Given the description of an element on the screen output the (x, y) to click on. 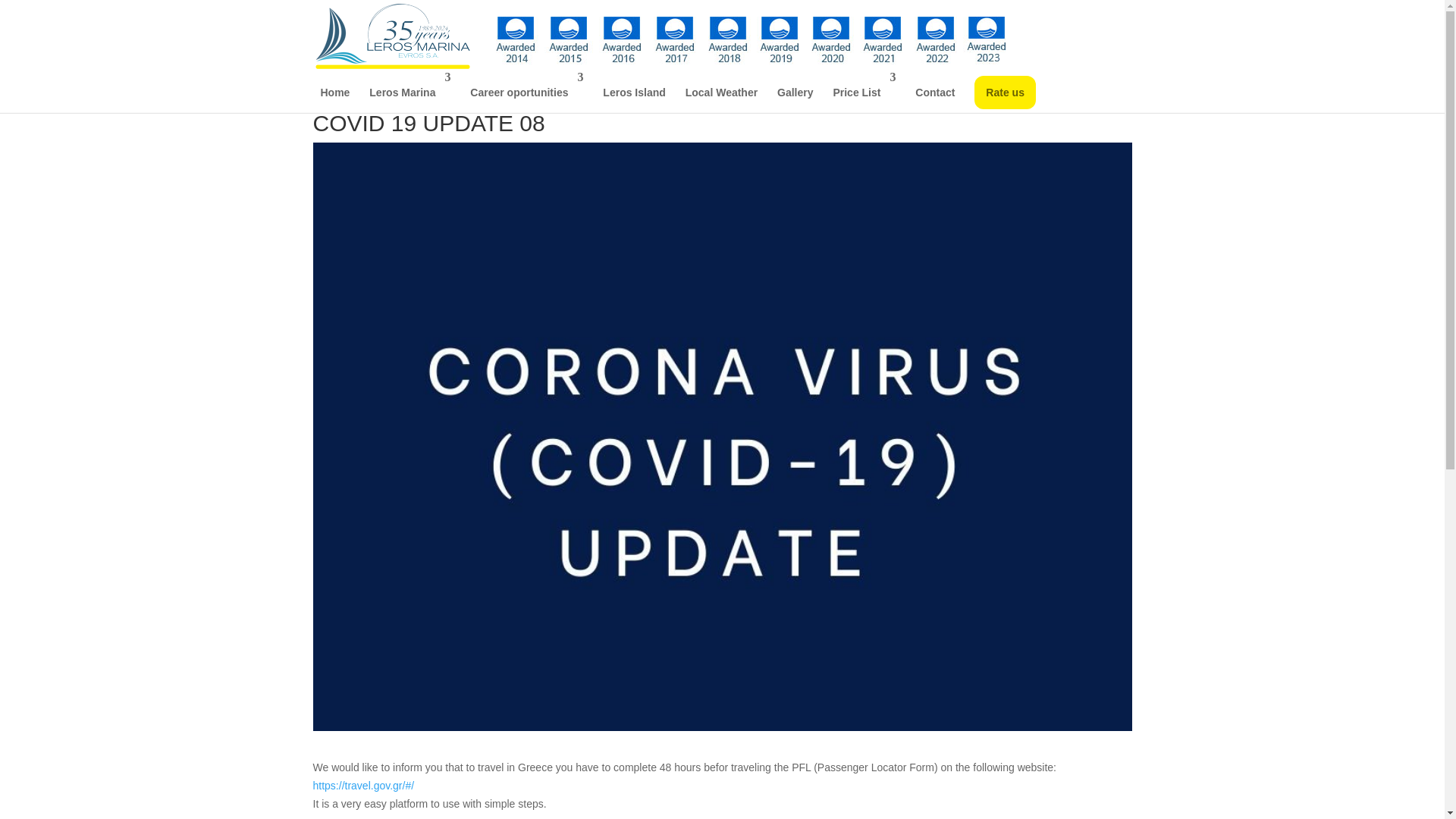
Rate us (1004, 92)
Contact (935, 92)
Leros Island (633, 92)
Local Weather (721, 92)
Leros Marina (409, 92)
Career oportunities (526, 92)
Price List (863, 92)
